Given the description of an element on the screen output the (x, y) to click on. 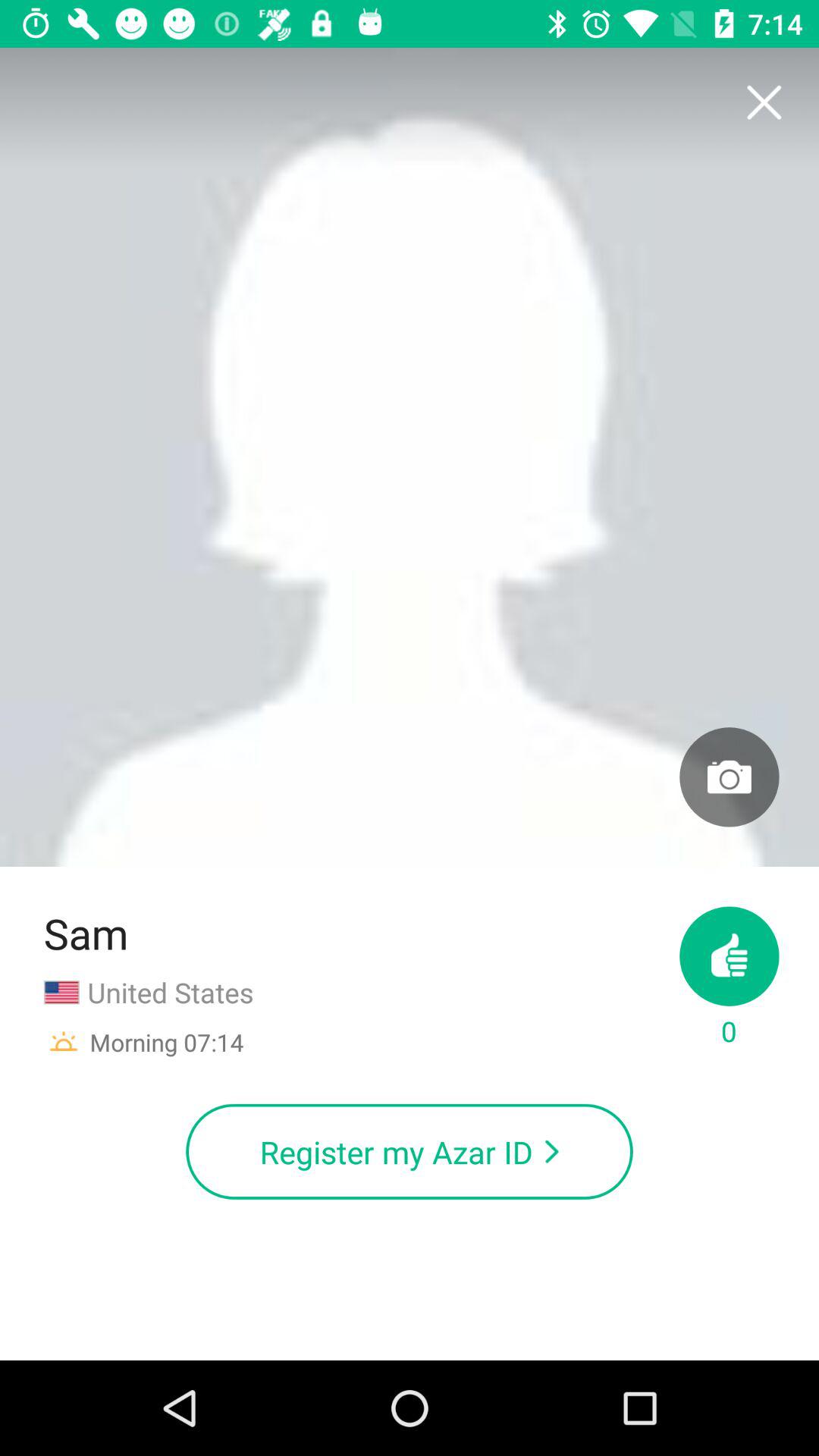
open item to the right of united states item (729, 977)
